Given the description of an element on the screen output the (x, y) to click on. 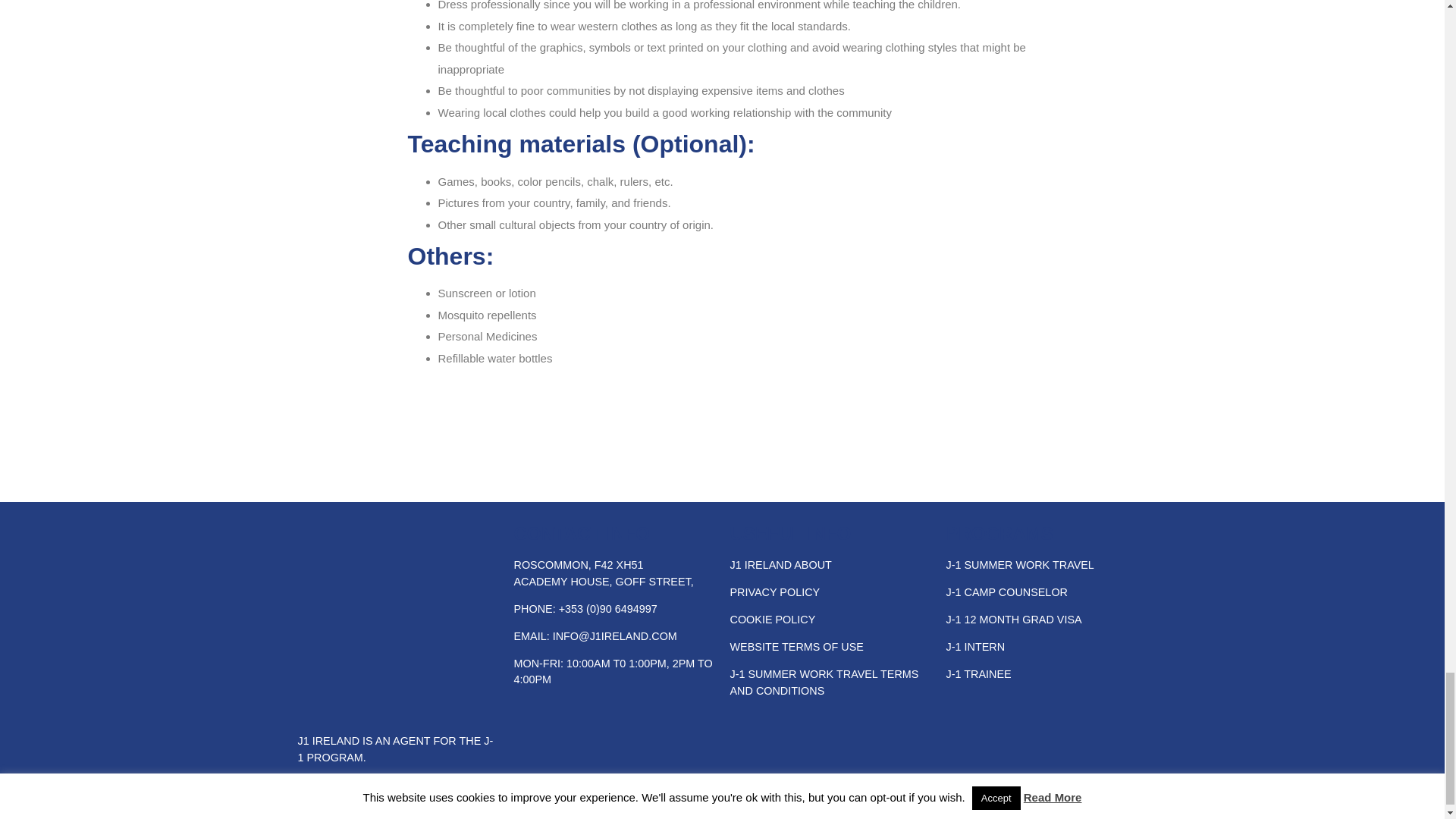
J-1 SUMMER WORK TRAVEL (1020, 564)
J-1 CAMP COUNSELOR (1006, 592)
J-1 SUMMER WORK TRAVEL TERMS AND CONDITIONS (823, 682)
J-1 INTERN (976, 646)
J1 IRELAND ABOUT (780, 564)
WEBSITE TERMS OF USE (796, 646)
J-1 TRAINEE (978, 674)
COOKIE POLICY (772, 619)
PRIVACY POLICY (774, 592)
